Given the description of an element on the screen output the (x, y) to click on. 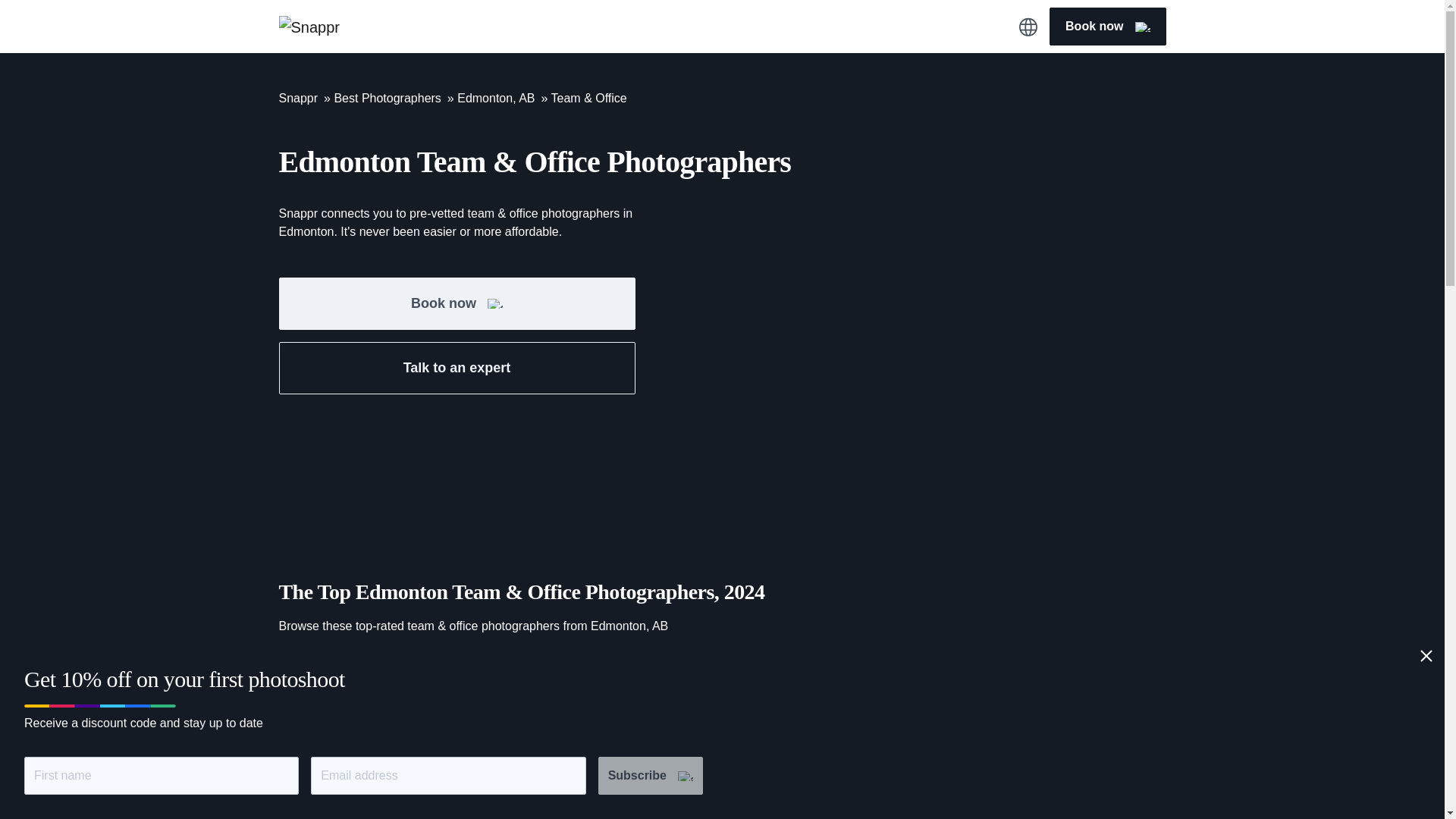
Edmonton, AB (495, 97)
Talk to an expert (456, 367)
Snappr (298, 97)
Book now (456, 303)
Subscribe (650, 775)
Best Photographers (387, 97)
Book now (1107, 26)
